Given the description of an element on the screen output the (x, y) to click on. 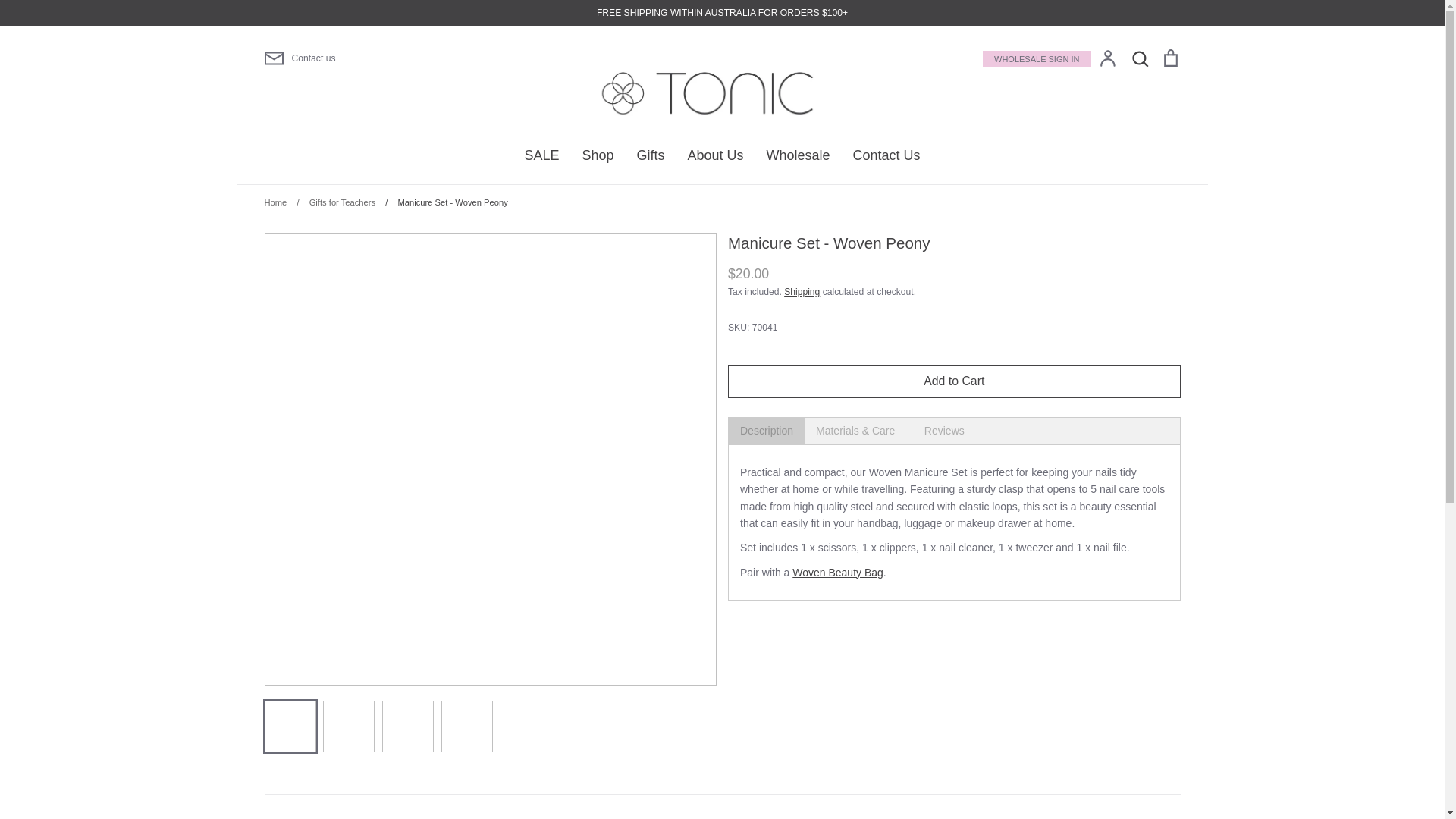
Account (1107, 57)
Search (1139, 57)
Contact us (403, 57)
SALE (541, 155)
Small Beauty Bag Woven Peony (837, 671)
Shop (596, 155)
Cart (1169, 57)
WHOLESALE SIGN IN (1036, 58)
